Given the description of an element on the screen output the (x, y) to click on. 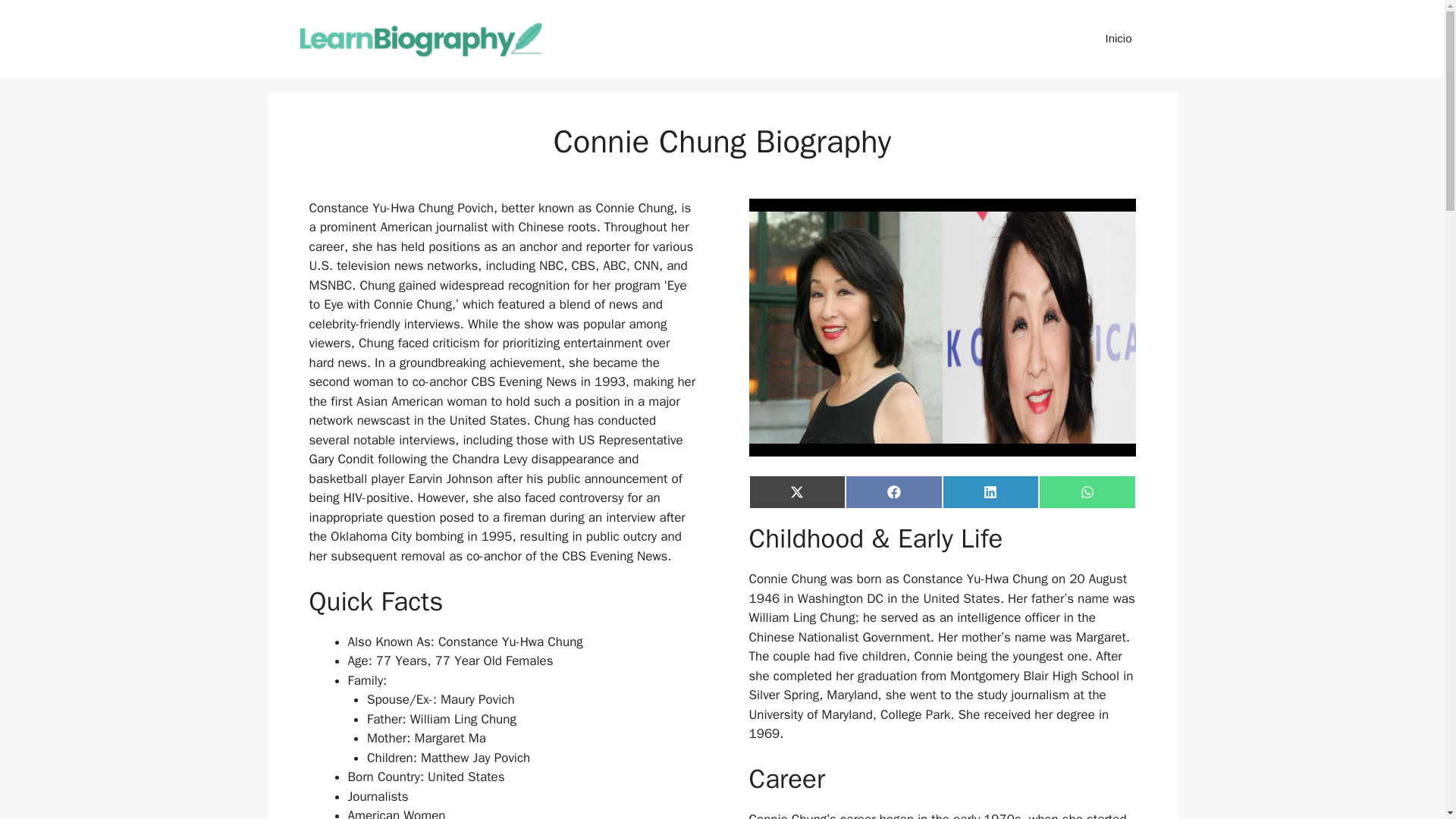
Share on WhatsApp (1087, 491)
Share on Facebook (893, 491)
Share on LinkedIn (990, 491)
Inicio (1118, 38)
